Given the description of an element on the screen output the (x, y) to click on. 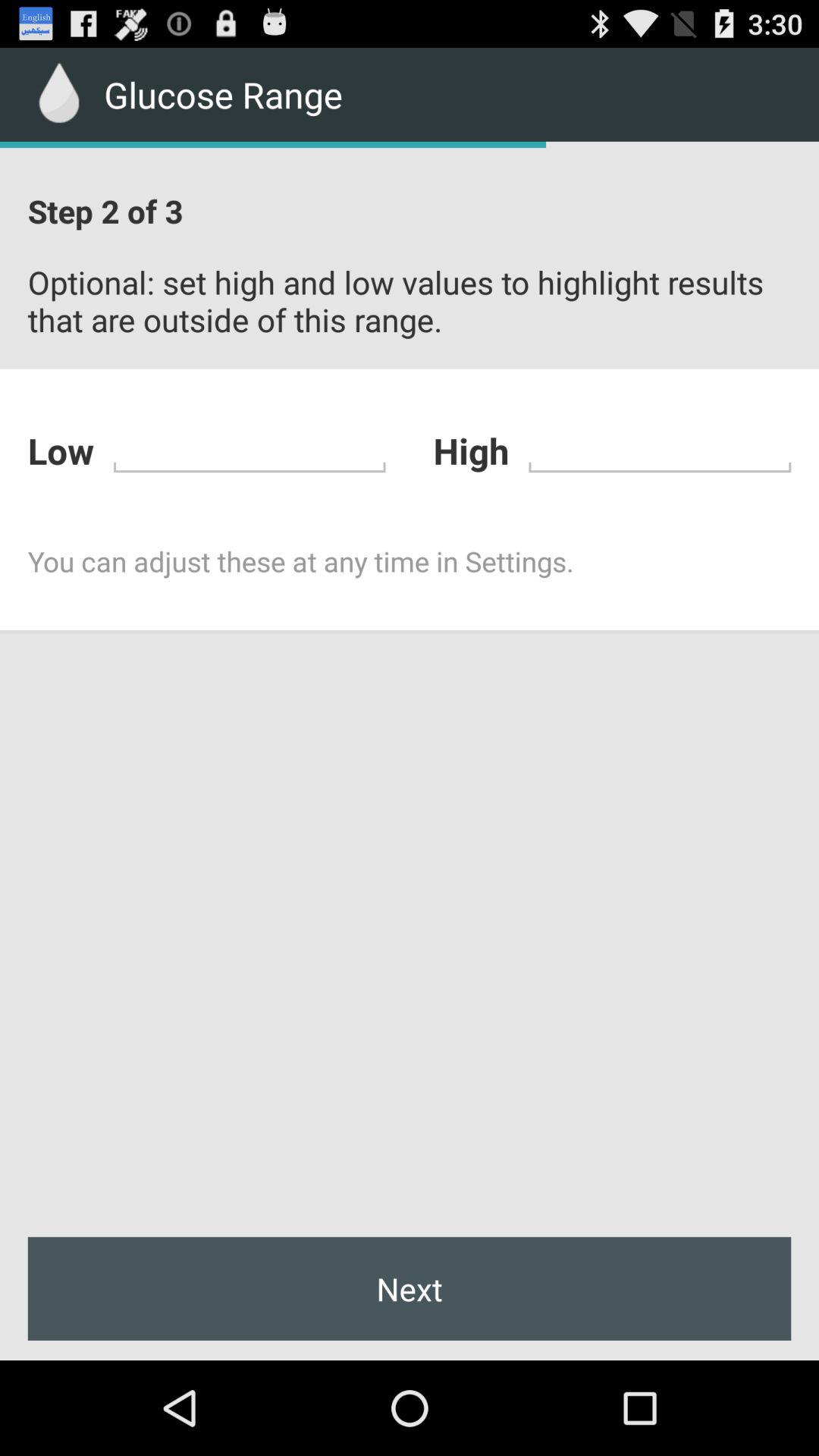
enter high range of blood glucose (659, 448)
